Given the description of an element on the screen output the (x, y) to click on. 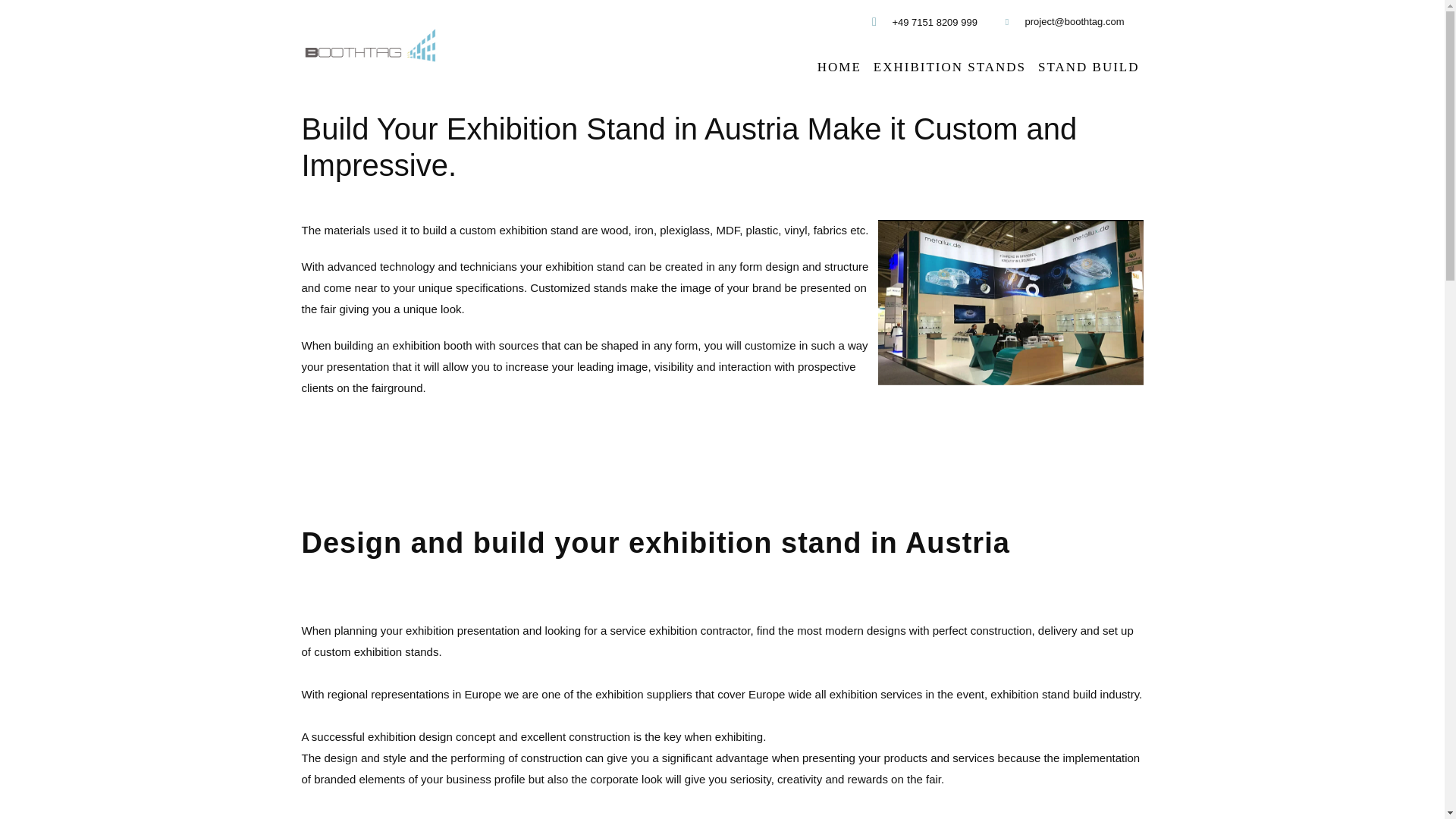
HOME (838, 67)
EXHIBITION STANDS (949, 67)
STAND BUILD (1087, 67)
